Given the description of an element on the screen output the (x, y) to click on. 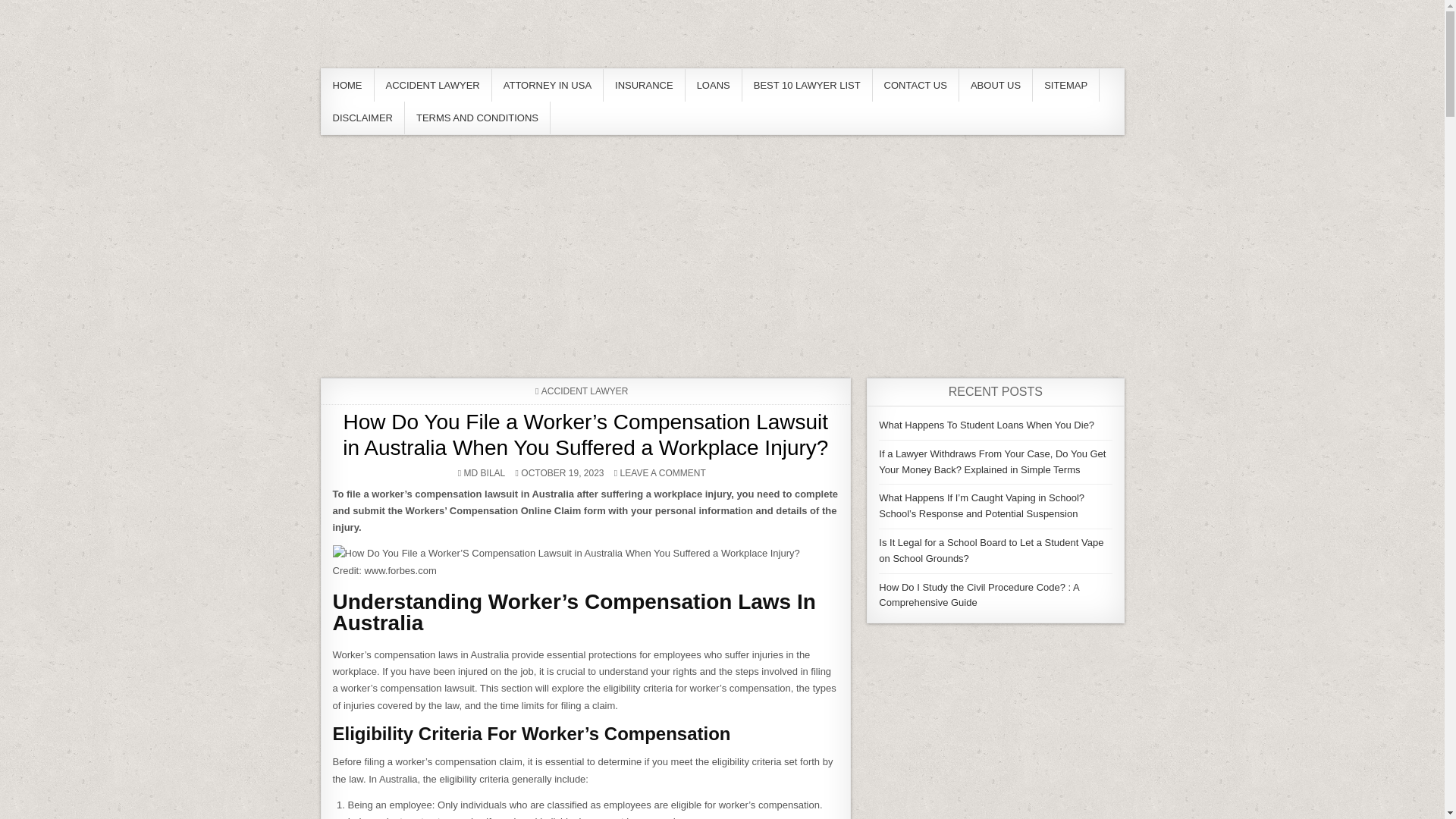
ATTORNEY IN USA (548, 84)
ACCIDENT LAWYER (584, 390)
CONTACT US (915, 84)
INSURANCE (644, 84)
HOME (347, 84)
DISCLAIMER (362, 117)
What Happens To Student Loans When You Die? (986, 424)
ABOUT US (995, 84)
LOANS (713, 84)
ACCIDENT LAWYER (433, 84)
TERMS AND CONDITIONS (477, 117)
